Given the description of an element on the screen output the (x, y) to click on. 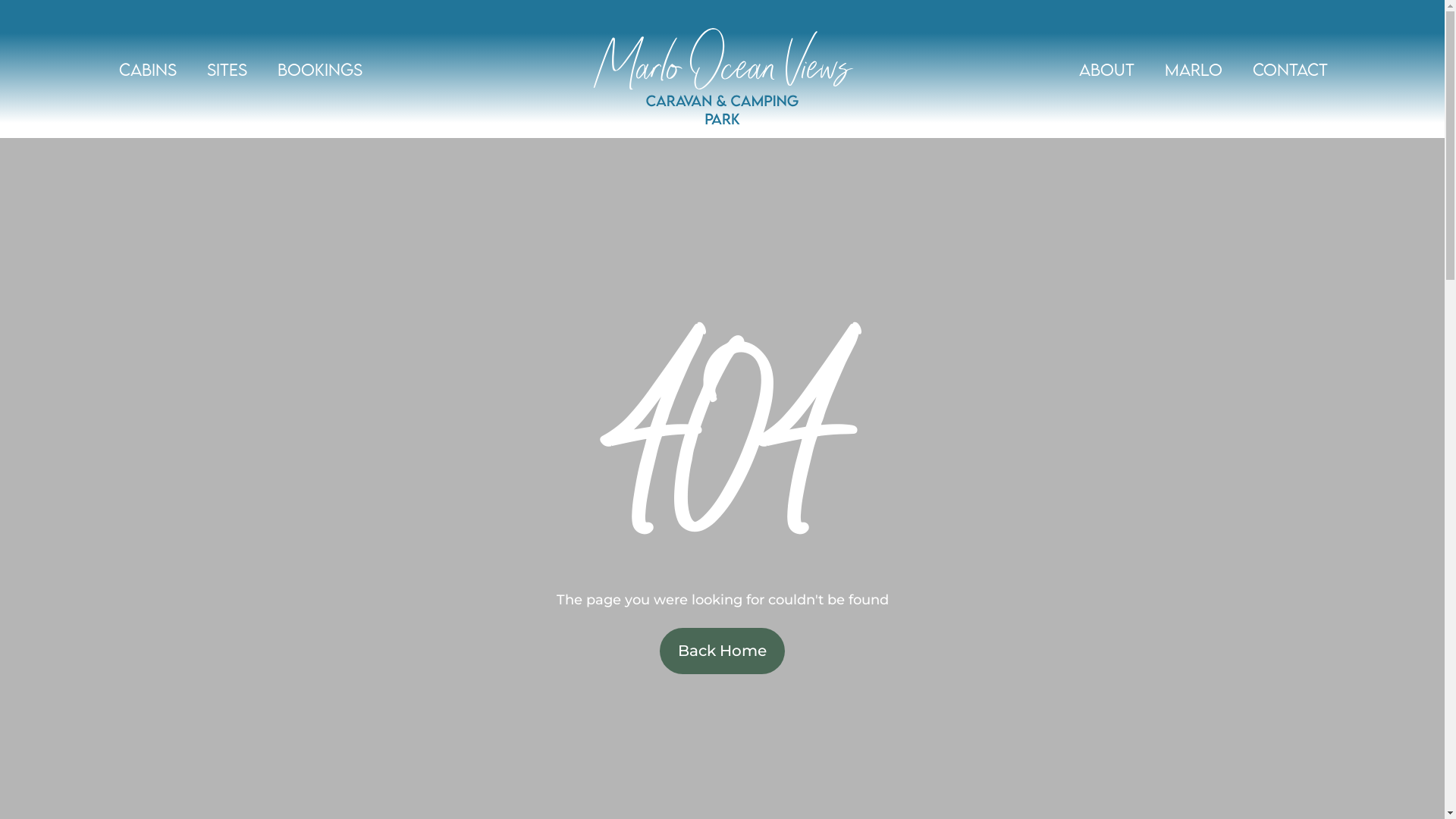
Bookings Element type: text (319, 68)
Marlo Element type: text (1193, 68)
Back Home Element type: text (721, 650)
Contact Element type: text (1290, 68)
Cabins Element type: text (147, 68)
About Element type: text (1106, 68)
Sites Element type: text (226, 68)
